Given the description of an element on the screen output the (x, y) to click on. 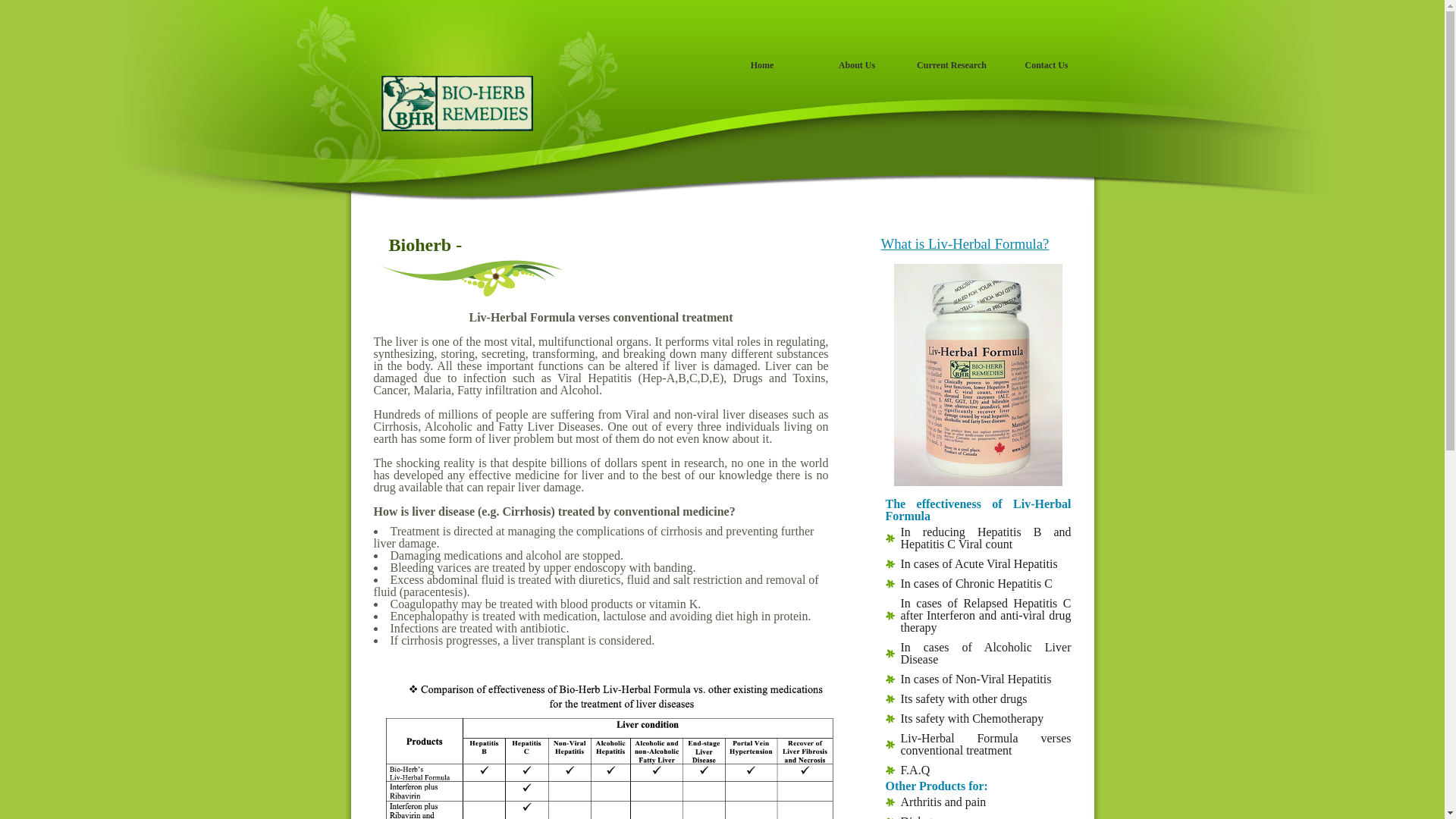
In reducing Hepatitis B and Hepatitis C Viral count Element type: text (978, 538)
Home Element type: text (761, 69)
In cases of Non-Viral Hepatitis Element type: text (978, 679)
Current Research Element type: text (950, 69)
In cases of Alcoholic Liver Disease Element type: text (978, 653)
Contact Us Element type: text (1046, 69)
Arthritis and pain Element type: text (978, 802)
What is Liv-Herbal Formula? Element type: text (964, 244)
In cases of Chronic Hepatitis C Element type: text (978, 583)
In cases of Acute Viral Hepatitis Element type: text (978, 564)
F.A.Q Element type: text (978, 770)
About Us Element type: text (856, 69)
Its safety with other drugs Element type: text (978, 699)
Its safety with Chemotherapy Element type: text (978, 718)
Liv-Herbal Formula verses conventional treatment Element type: text (978, 744)
